Given the description of an element on the screen output the (x, y) to click on. 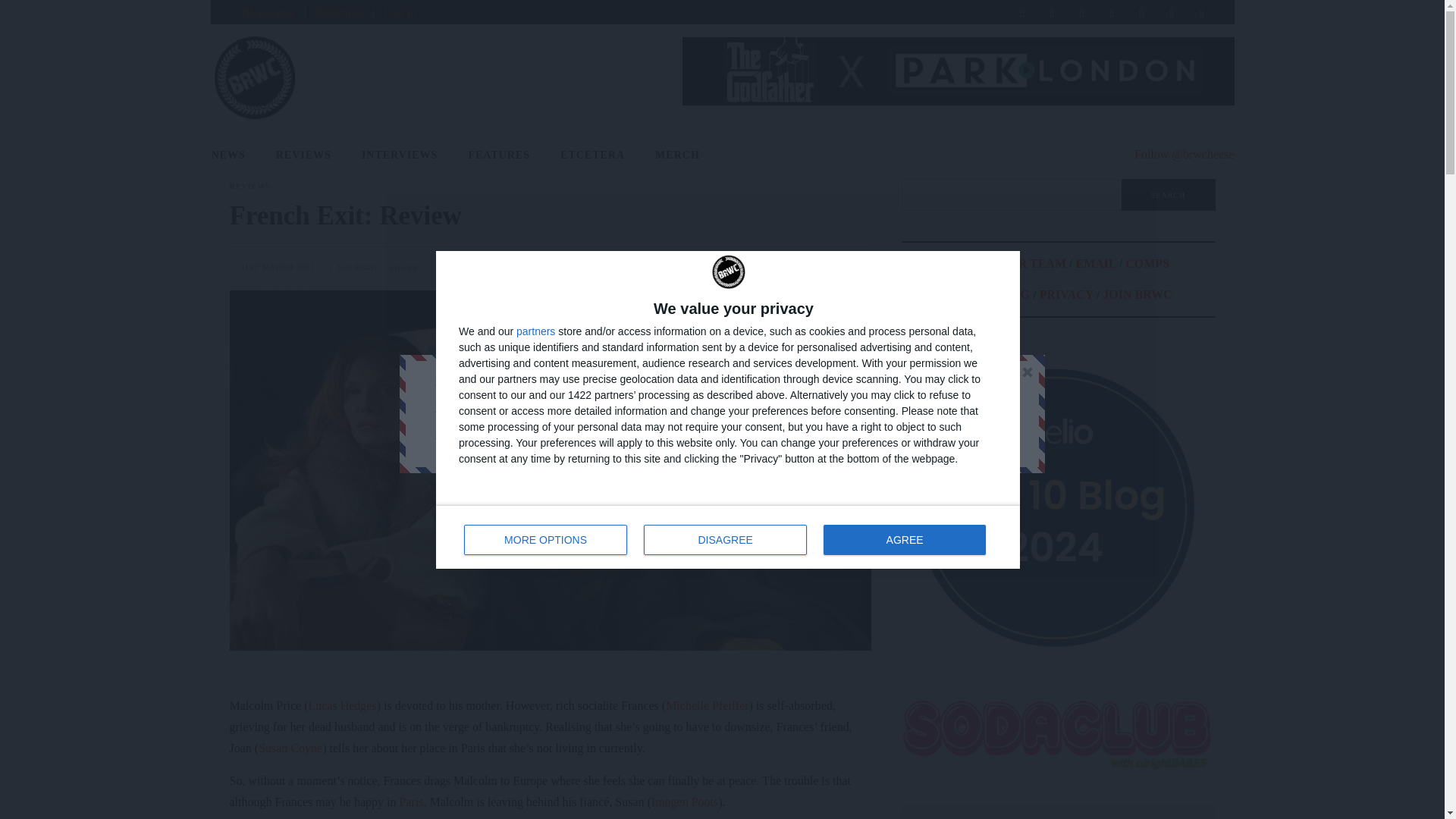
INTERVIEWS (399, 154)
Blogarama.com - Follow BRWC on Blogarama (267, 11)
MERCH (677, 154)
ETCETERA (592, 154)
Search (1168, 194)
AGREE (904, 539)
REVIEWS (303, 154)
subscribe to our newsletter (643, 408)
Subscribe (338, 11)
MORE OPTIONS (545, 539)
Log In (400, 11)
Blogarama (267, 11)
NEWS (727, 536)
partners (235, 154)
